Given the description of an element on the screen output the (x, y) to click on. 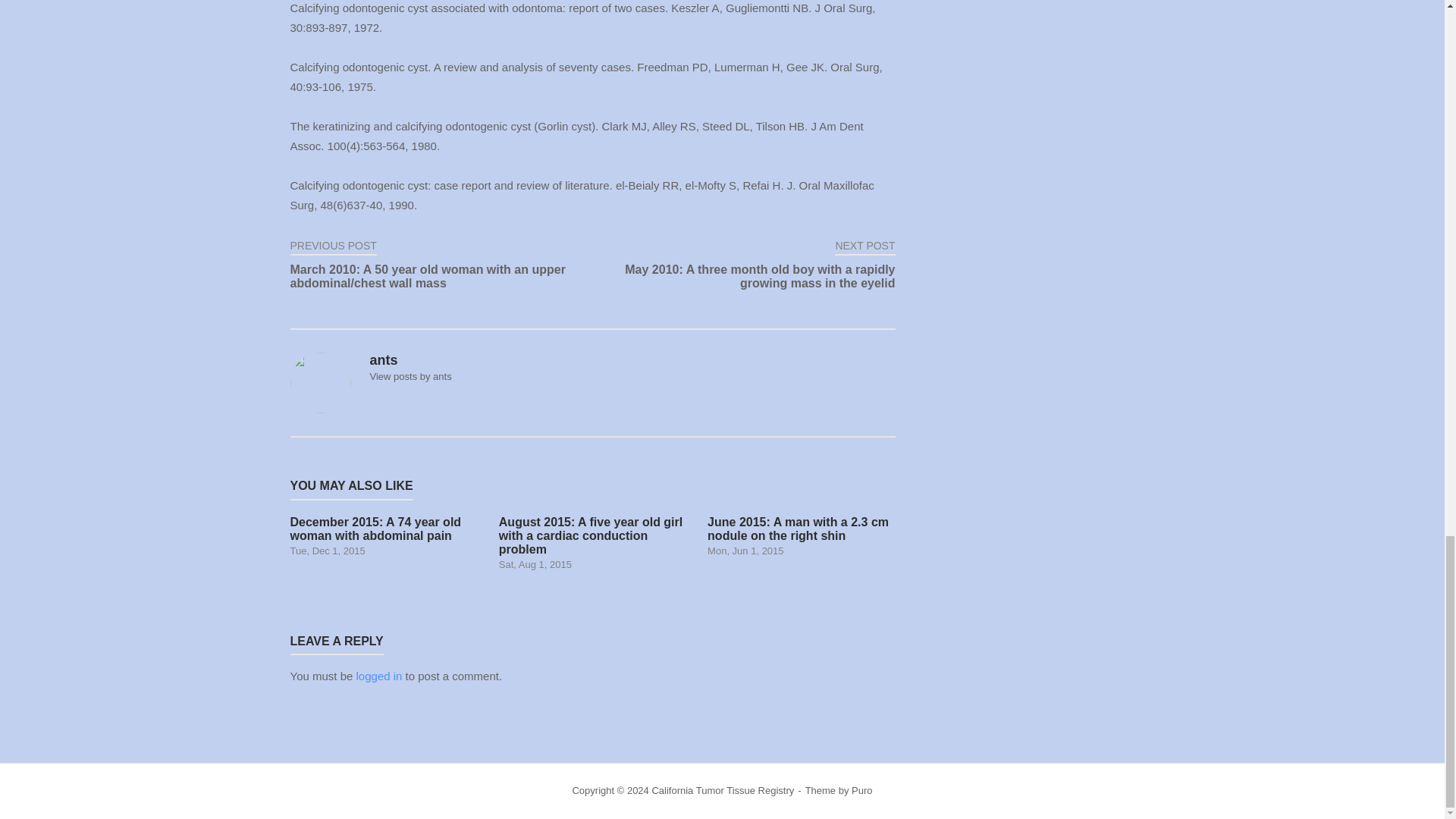
logged in (379, 675)
December 2015: A 74 year old woman with abdominal pain (383, 535)
June 2015: A man with a 2.3 cm nodule on the right shin (801, 535)
View posts by ants (410, 376)
